Given the description of an element on the screen output the (x, y) to click on. 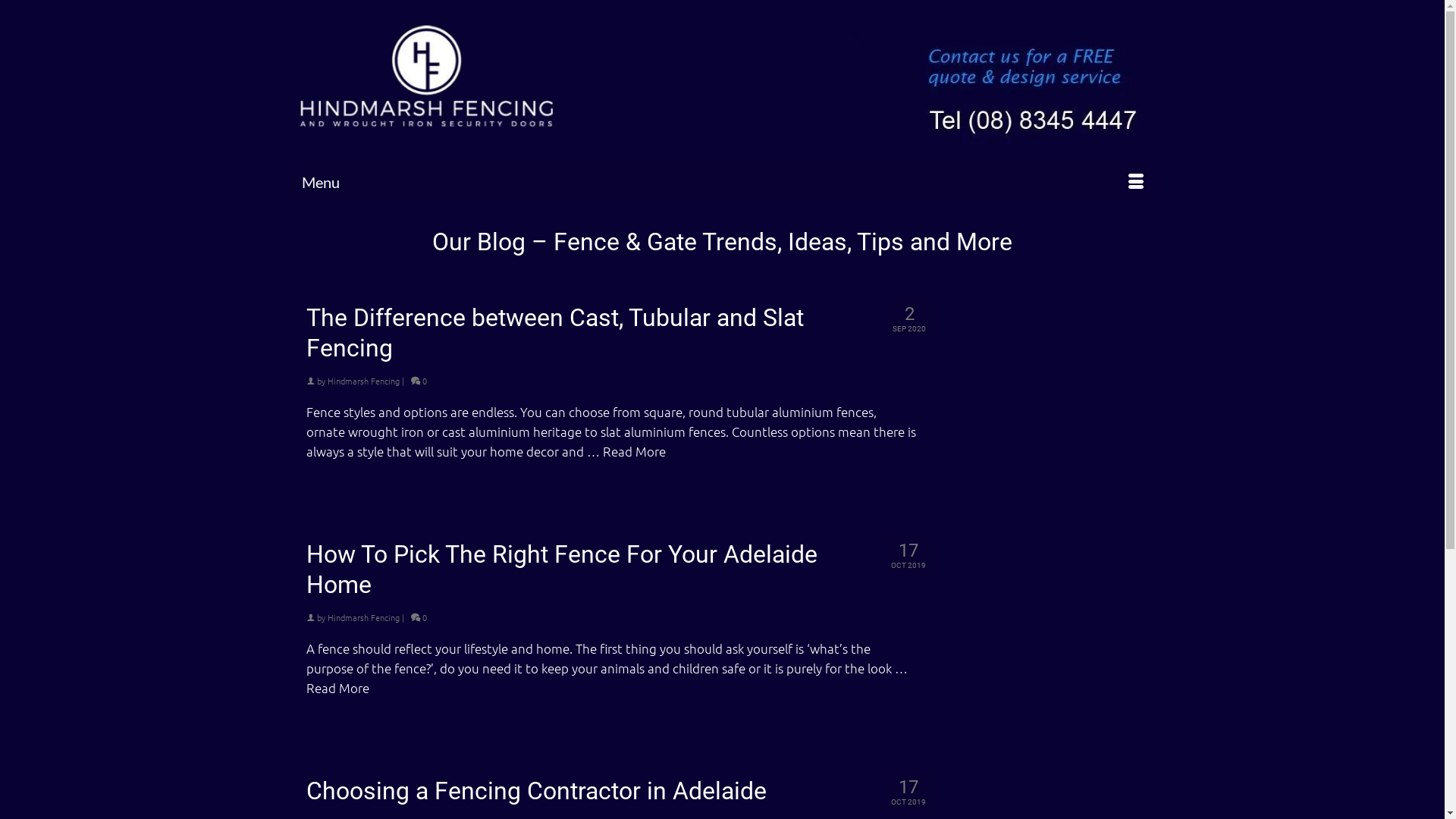
Hindmarsh Fencing Element type: hover (425, 75)
Hindmarsh Fencing Element type: text (363, 617)
Hindmarsh Fencing Element type: text (363, 380)
Choosing a Fencing Contractor in Adelaide Element type: text (611, 790)
Read More Element type: text (633, 450)
0 Element type: text (418, 380)
Read More Element type: text (337, 687)
The Difference between Cast, Tubular and Slat Fencing Element type: text (611, 332)
Menu Element type: text (721, 181)
0 Element type: text (418, 617)
How To Pick The Right Fence For Your Adelaide Home Element type: text (611, 569)
